Given the description of an element on the screen output the (x, y) to click on. 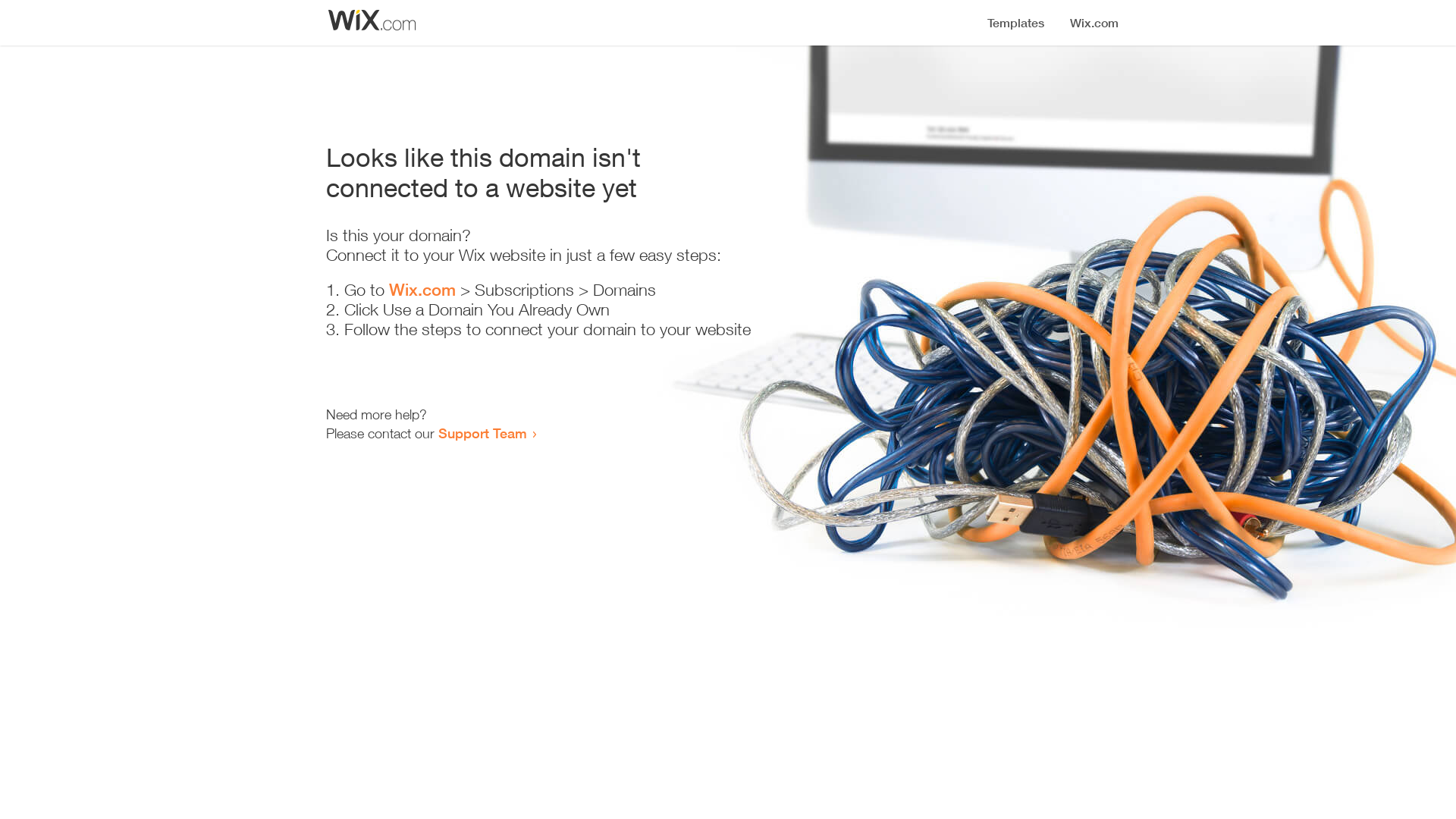
Support Team Element type: text (482, 432)
Wix.com Element type: text (422, 289)
